Given the description of an element on the screen output the (x, y) to click on. 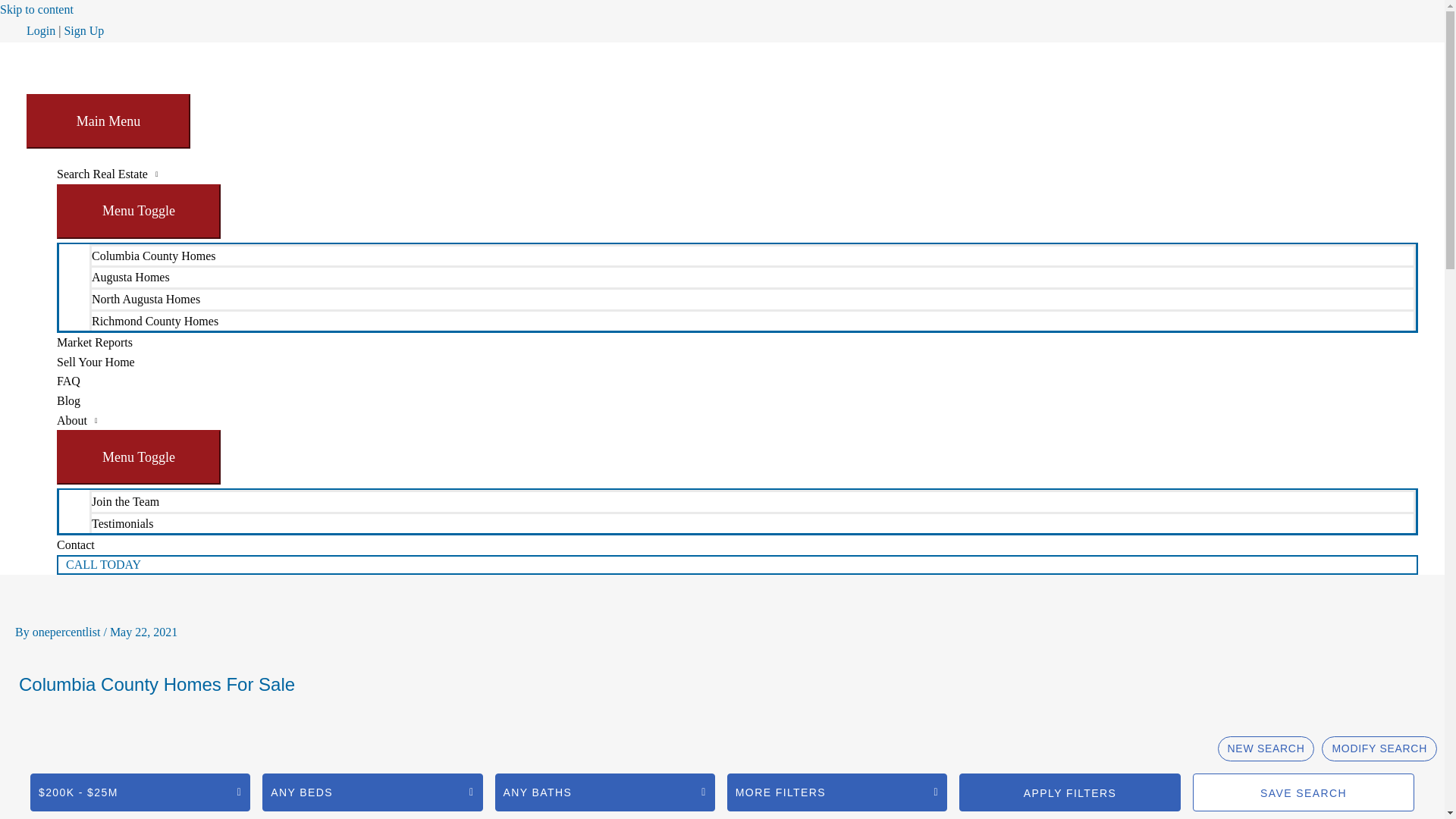
Main Menu Element type: text (108, 121)
Richmond County Homes Element type: text (752, 320)
Join the Team Element type: text (752, 500)
Contact Element type: text (737, 545)
North Augusta Homes Element type: text (752, 298)
Skip to content Element type: text (36, 9)
APPLY FILTERS Element type: text (1069, 792)
SAVE SEARCH Element type: text (1303, 792)
Columbia County Homes Element type: text (752, 255)
MORE FILTERS Element type: text (837, 792)
ANY BATHS Element type: text (605, 792)
Menu Toggle Element type: text (138, 456)
Sell Your Home Element type: text (737, 362)
ANY BEDS Element type: text (372, 792)
Sign Up Element type: text (83, 30)
Blog Element type: text (737, 401)
Market Reports Element type: text (737, 342)
Search Real Estate Element type: text (737, 174)
Testimonials Element type: text (752, 522)
About Element type: text (737, 420)
$200K - $25M Element type: text (140, 792)
Augusta Homes Element type: text (752, 276)
Menu Toggle Element type: text (138, 211)
onepercentlist Element type: text (67, 631)
FAQ Element type: text (737, 381)
NEW SEARCH Element type: text (1265, 748)
Login Element type: text (40, 30)
CALL TODAY Element type: text (737, 564)
MODIFY SEARCH Element type: text (1379, 748)
